Given the description of an element on the screen output the (x, y) to click on. 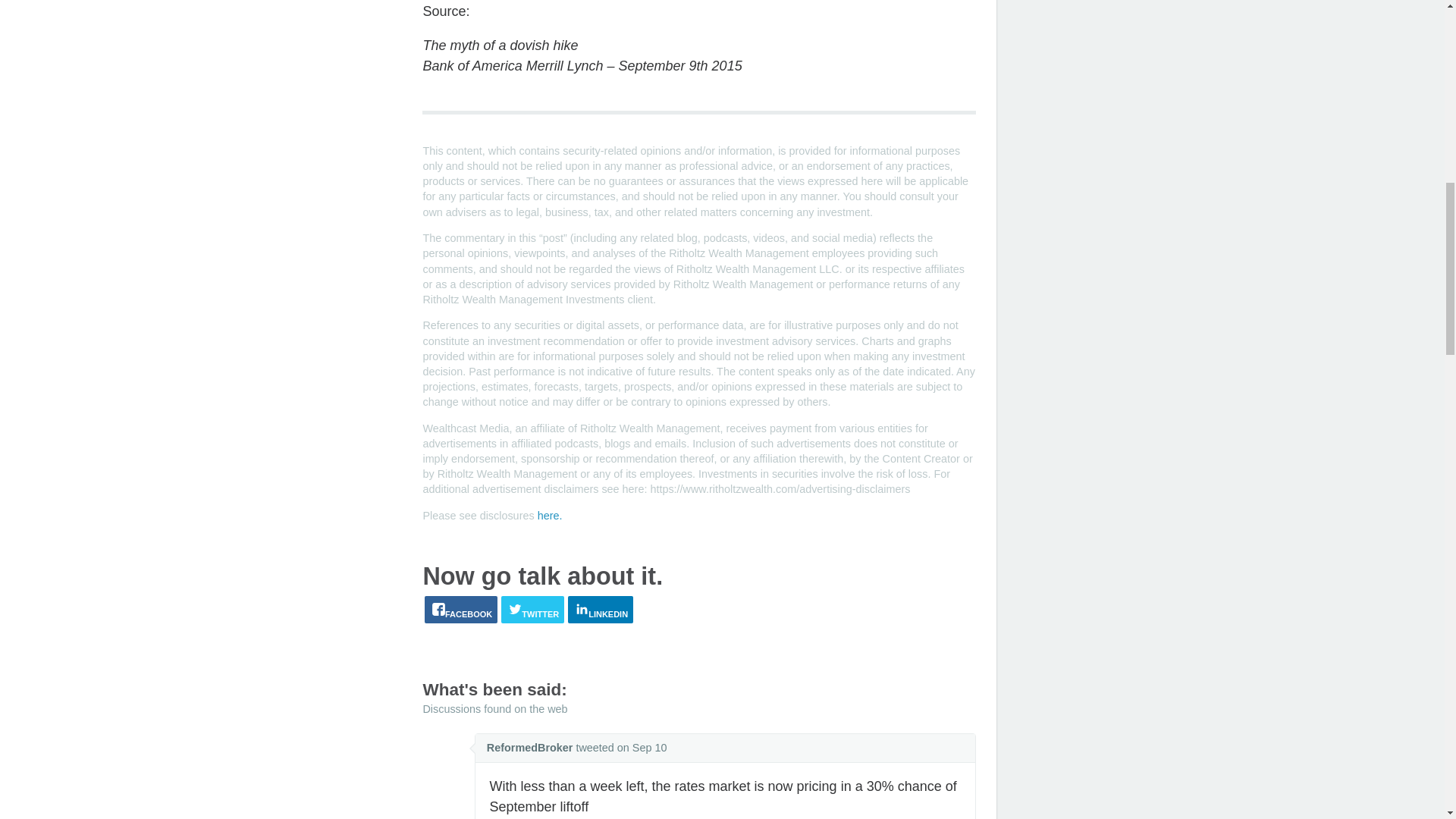
FACEBOOK (461, 609)
LINKEDIN (600, 609)
ReformedBroker (529, 747)
here. (549, 515)
TWITTER (532, 609)
